Given the description of an element on the screen output the (x, y) to click on. 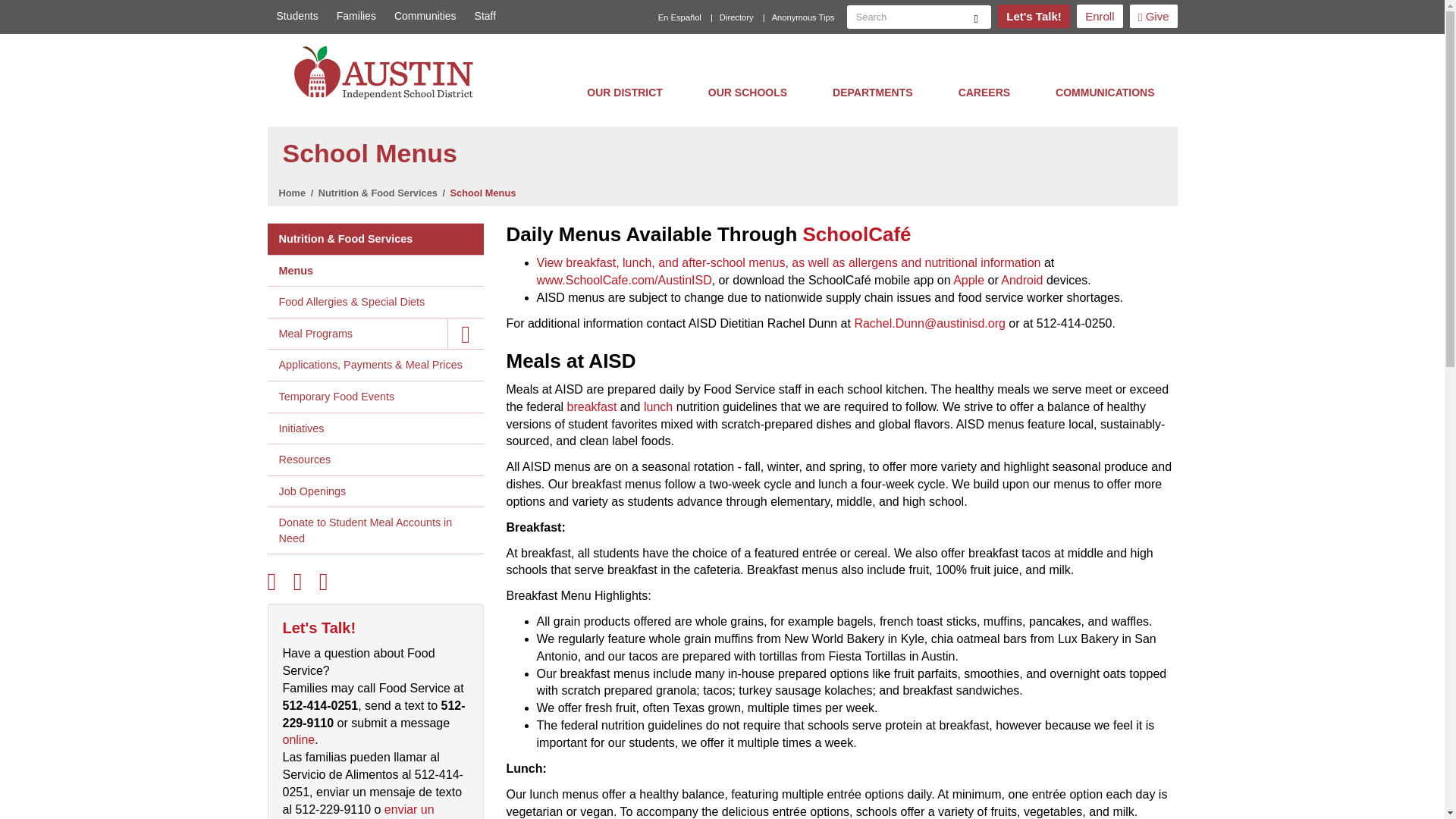
Students (296, 15)
OUR DISTRICT (624, 91)
Anonymous Tips (803, 17)
School Cafe (857, 233)
Search (975, 16)
The Austin Independent School District (387, 72)
Let's Talk! (1032, 15)
DEPARTMENTS (872, 91)
OUR SCHOOLS (747, 91)
Enroll (1099, 15)
Staff (480, 15)
Communities (425, 15)
Directory (736, 17)
Submit your questions or feedback! (1032, 15)
Home (387, 72)
